Given the description of an element on the screen output the (x, y) to click on. 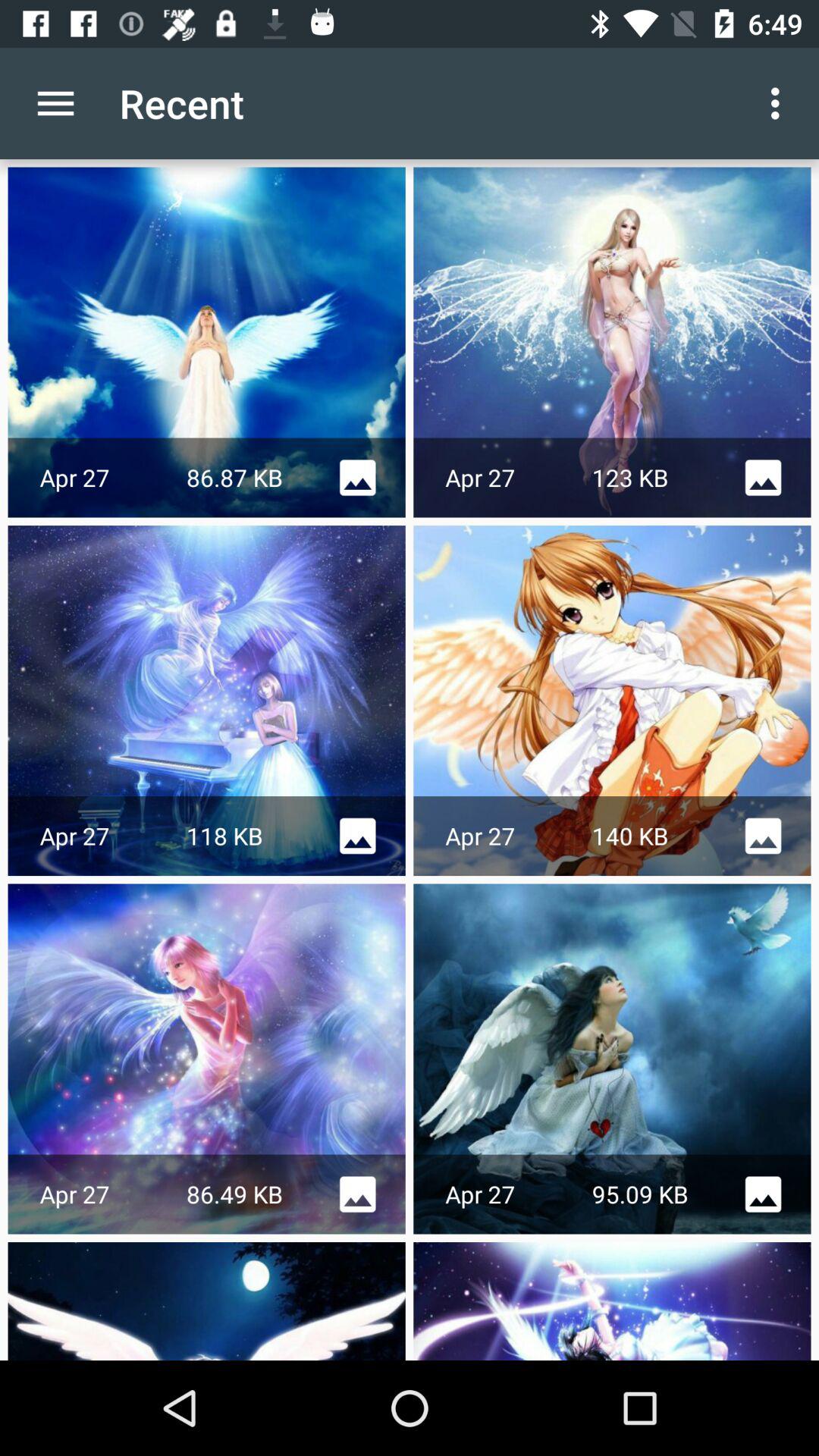
open item to the left of the recent item (55, 103)
